Given the description of an element on the screen output the (x, y) to click on. 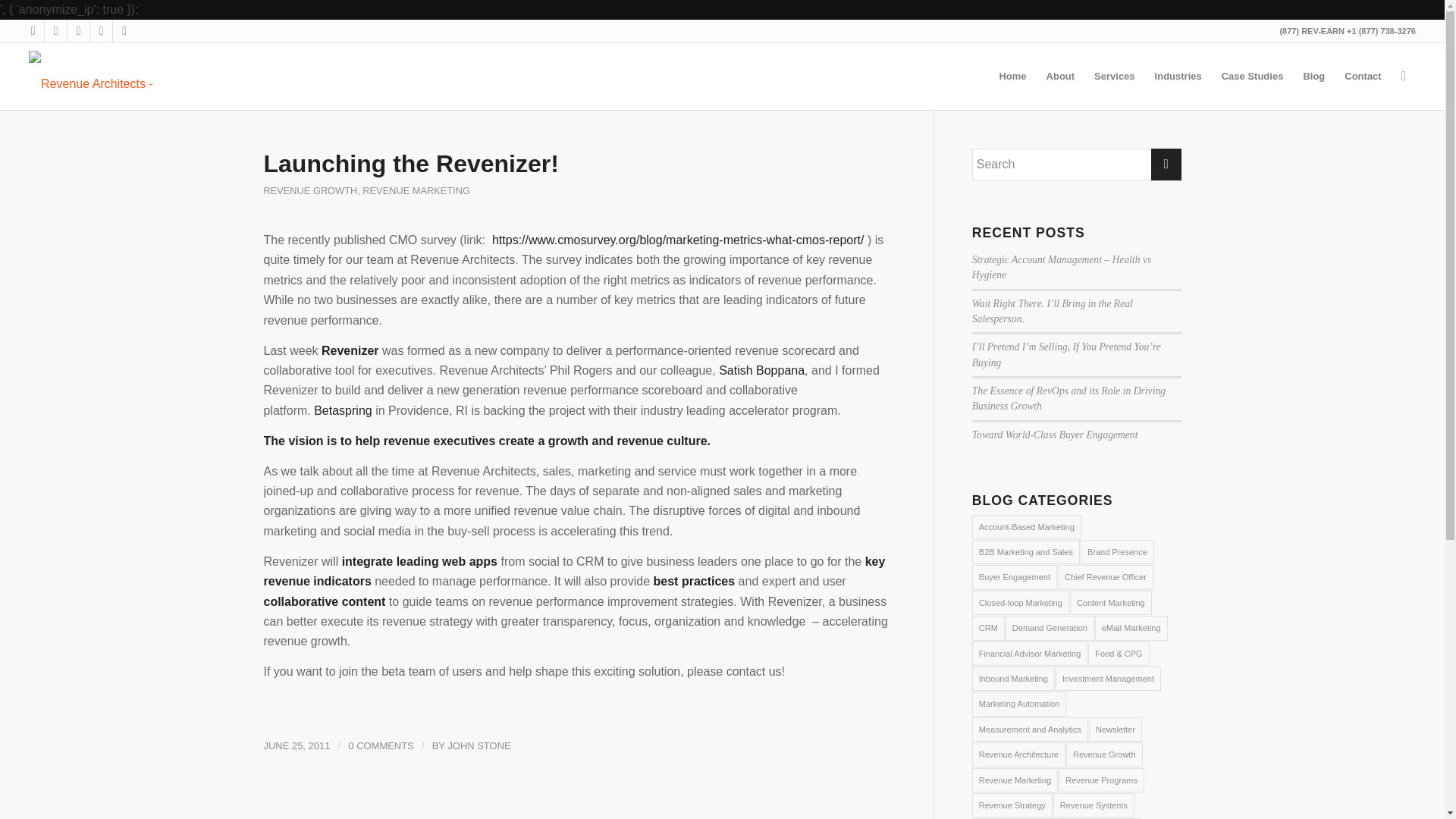
Twitter (32, 30)
Mail (101, 30)
Rss (124, 30)
LinkedIn (77, 30)
Permanent Link: Launching the Revenizer! (411, 163)
Services (1114, 76)
Facebook (55, 30)
Case Studies (1252, 76)
Posts by John Stone (478, 745)
Industries (1177, 76)
